Given the description of an element on the screen output the (x, y) to click on. 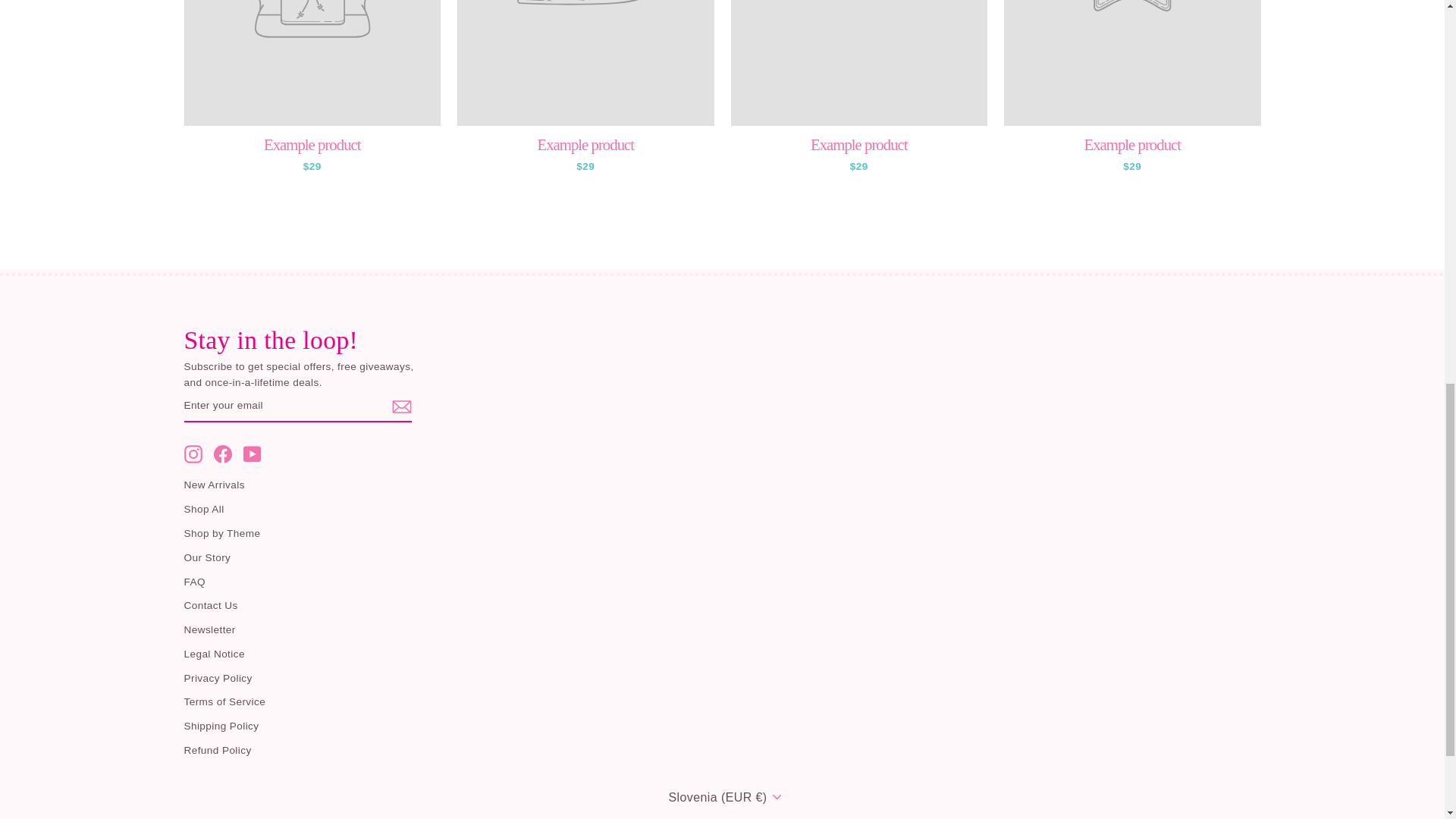
Our Generation Europe on Instagram (192, 454)
Our Generation Europe on YouTube (251, 454)
Our Generation Europe on Facebook (222, 454)
